Given the description of an element on the screen output the (x, y) to click on. 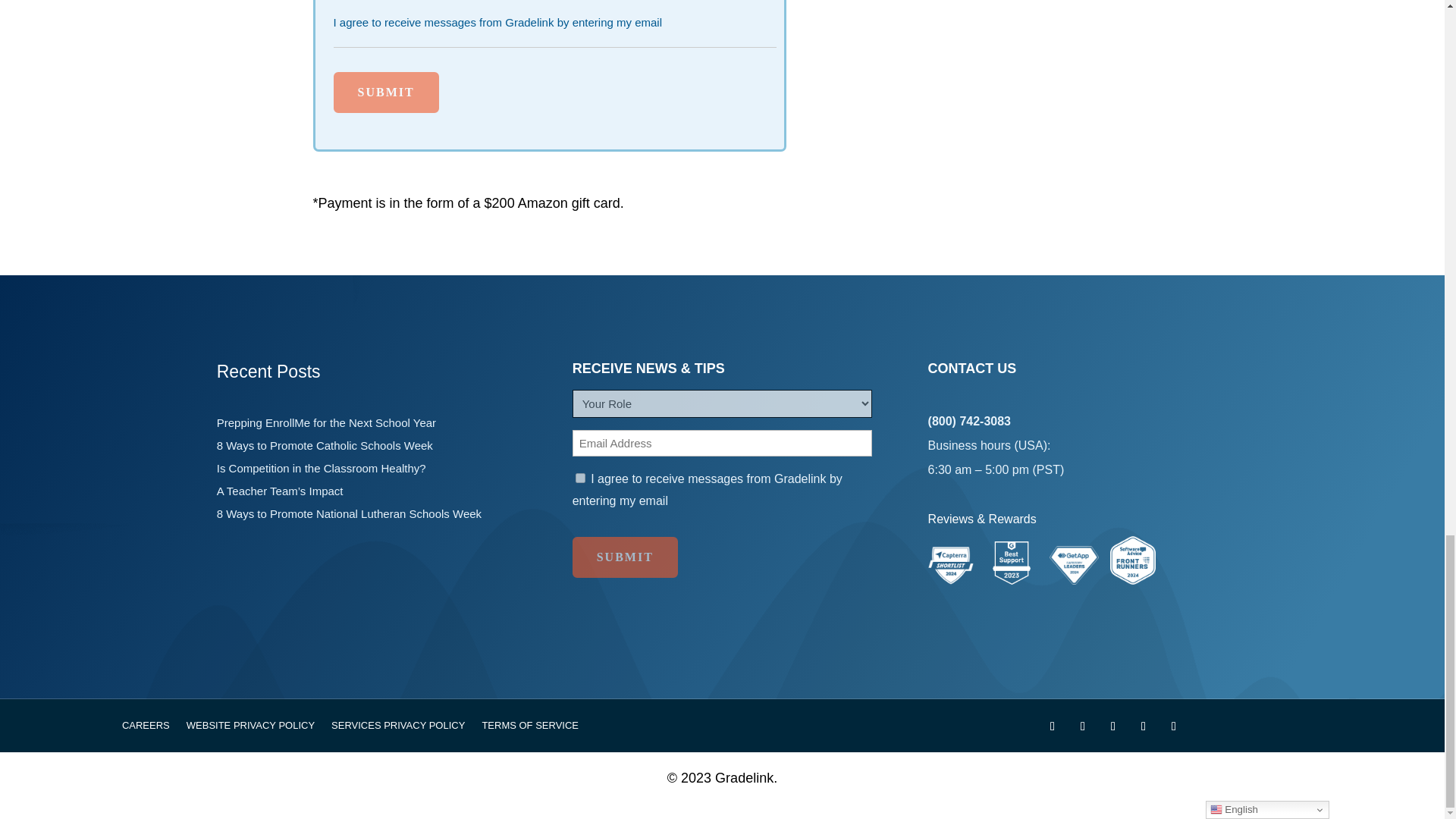
Submit (386, 92)
Gradelink is on the Software Advice Front Runners list (1132, 580)
Category Leaders Badge (1074, 565)
Gradelink is a GetApp Category Leader (1074, 580)
Submit (625, 557)
Follow on Facebook (1052, 726)
Follow on X (1082, 726)
Gradelink is on the Capterra Shortlist 2022 (951, 580)
1 (580, 478)
Follow on Youtube (1112, 726)
Frontrunners Badge (1132, 560)
